Given the description of an element on the screen output the (x, y) to click on. 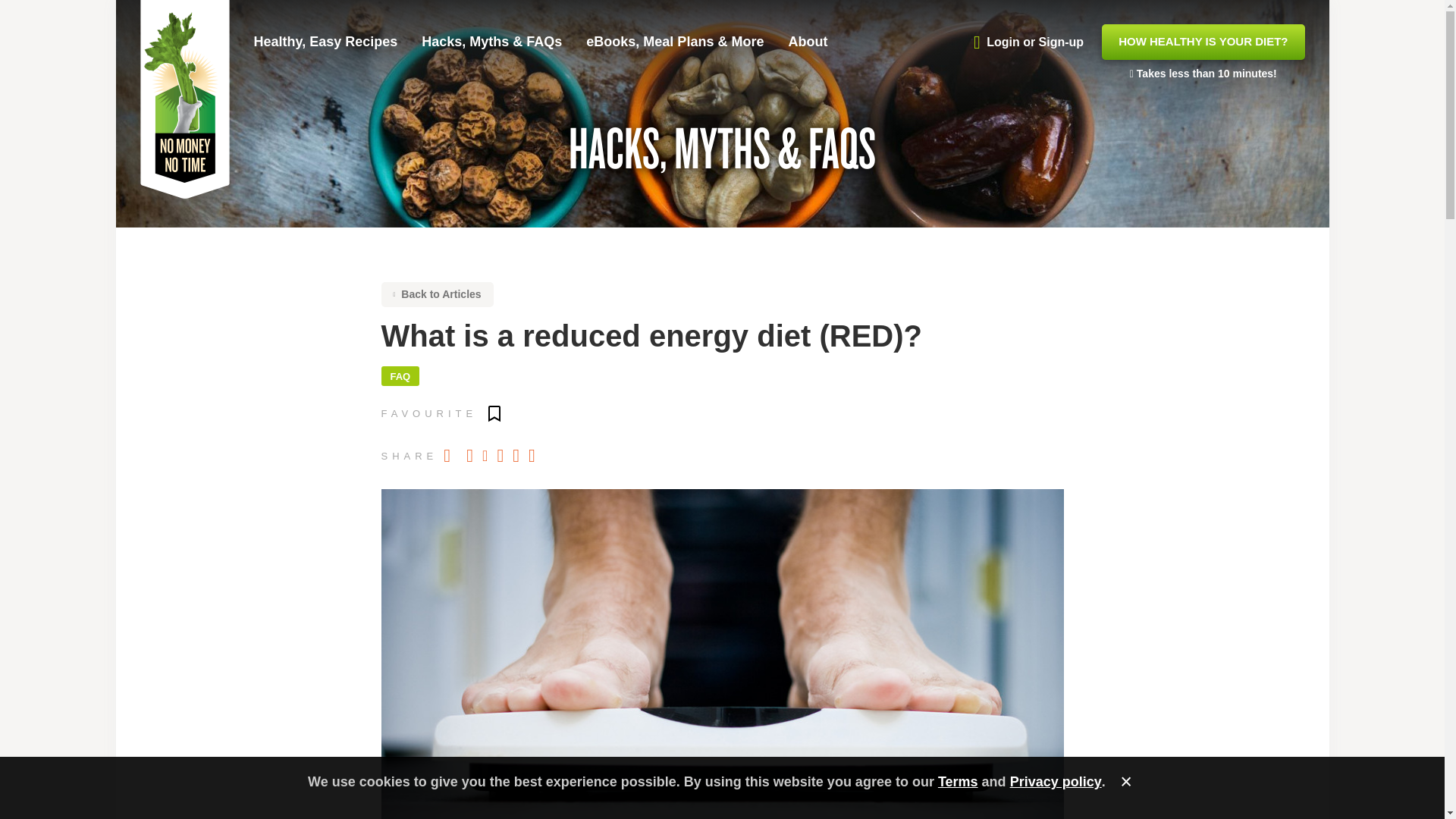
Add to favourites (494, 412)
About (807, 41)
 Back to Articles (436, 294)
Terms (957, 781)
Healthy, Easy Recipes (325, 41)
FAQ (1203, 41)
Login or Sign-up (399, 375)
